Given the description of an element on the screen output the (x, y) to click on. 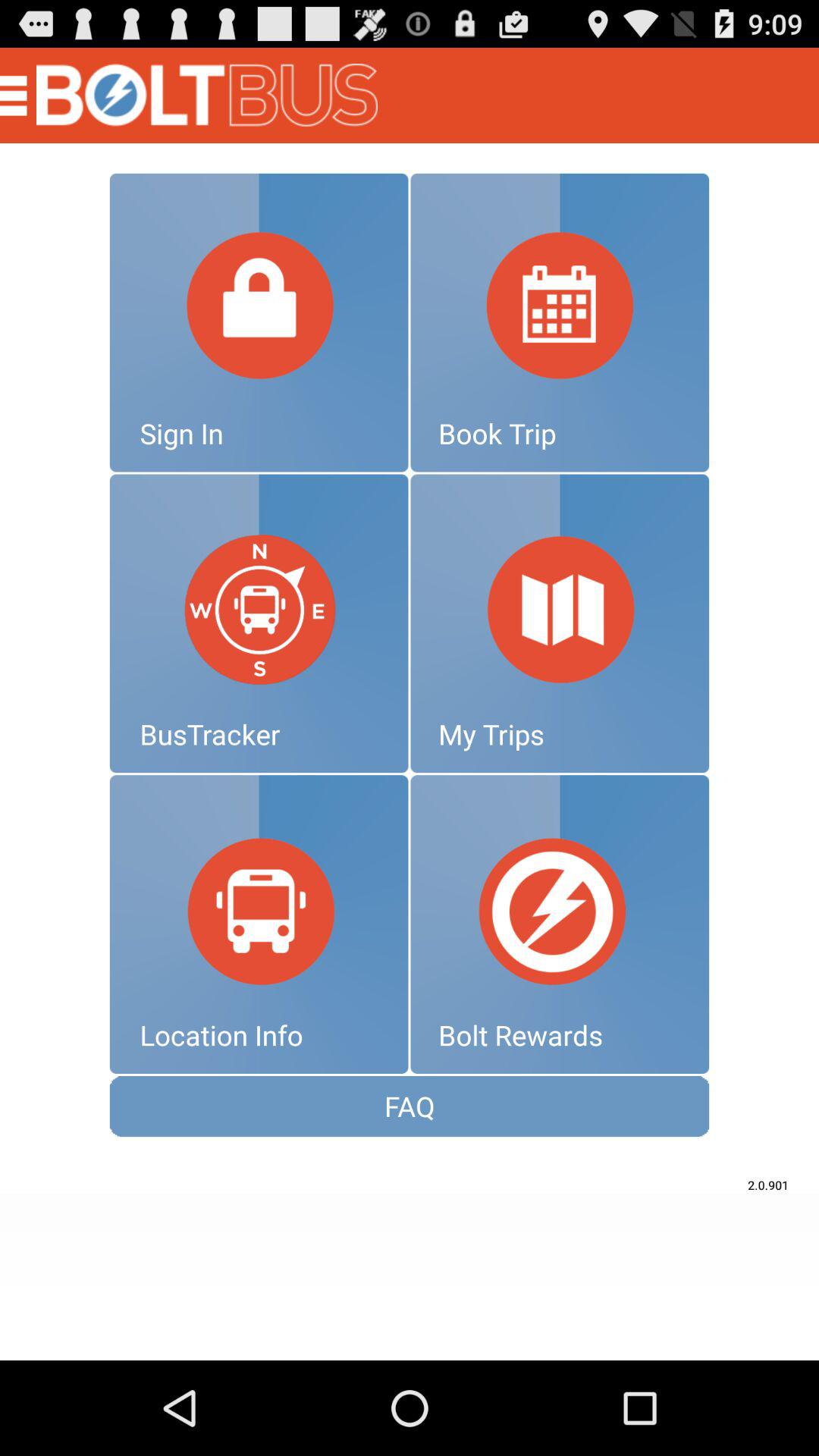
go to bustracker (258, 623)
